Given the description of an element on the screen output the (x, y) to click on. 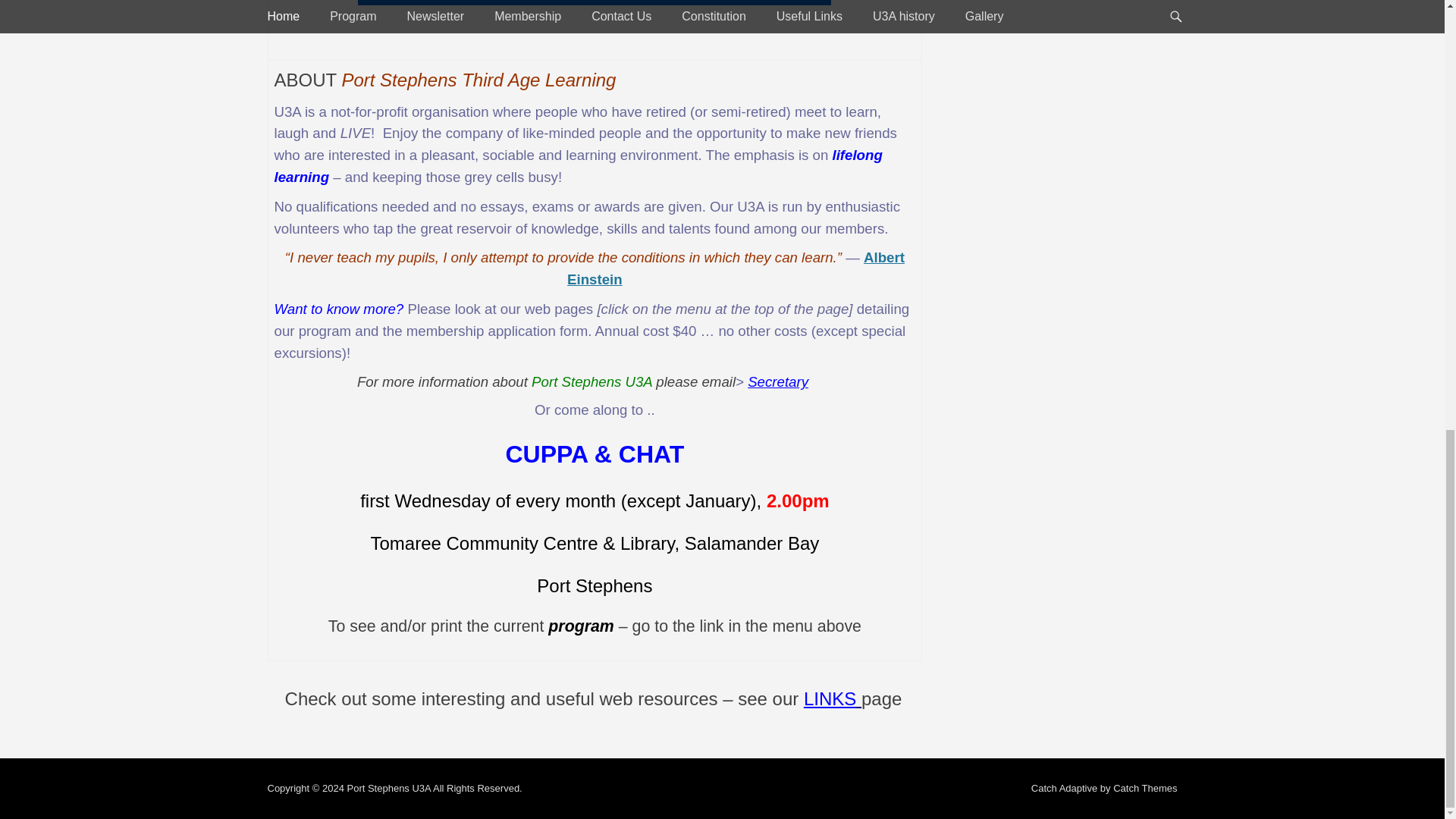
Catch Themes (1144, 787)
Albert Einstein (735, 268)
Secretary (778, 381)
LINKS (832, 698)
Port Stephens U3A (388, 787)
